Given the description of an element on the screen output the (x, y) to click on. 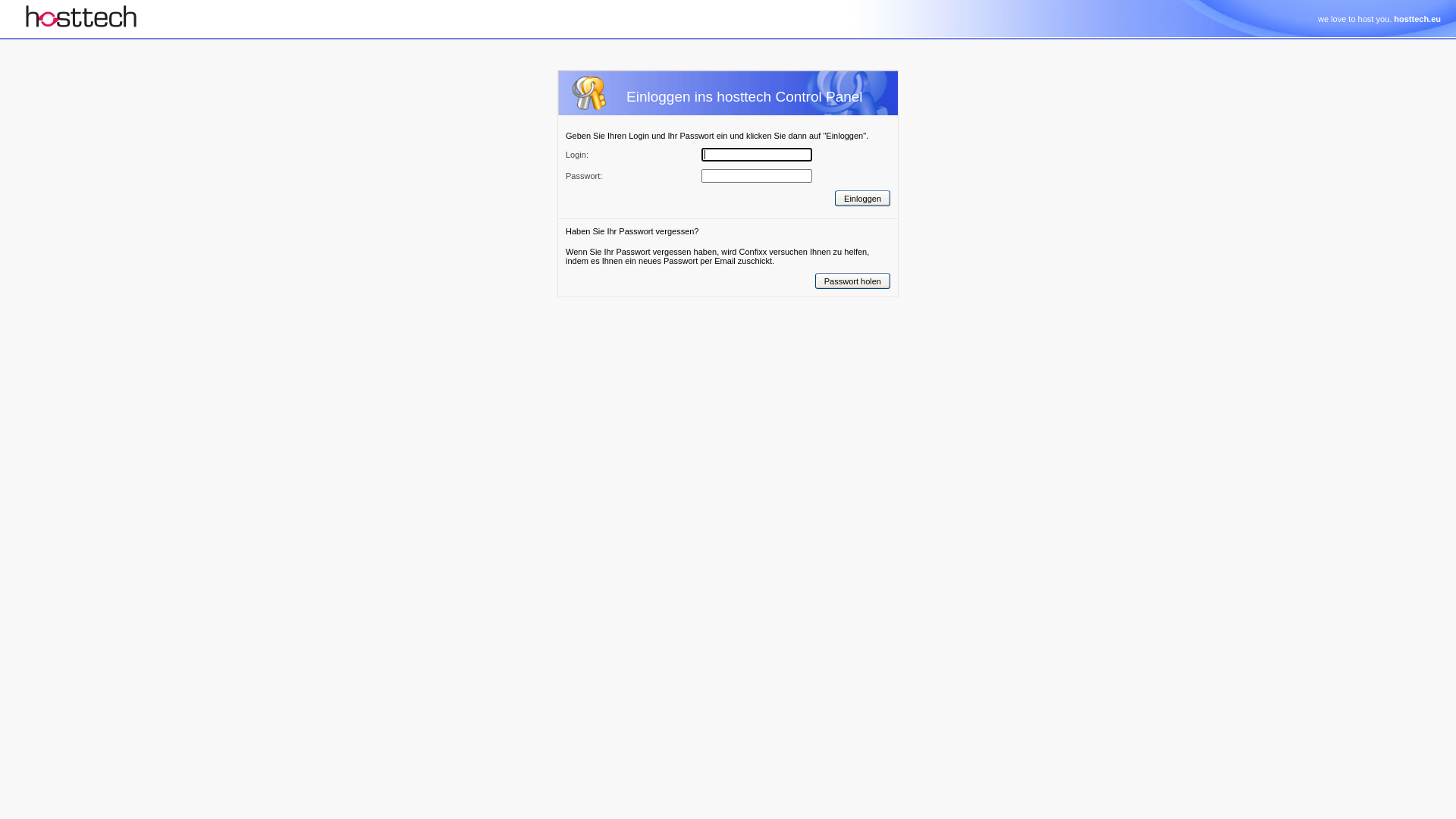
Einloggen Element type: text (862, 198)
Passwort holen Element type: text (852, 280)
we love to host you. hosttech.eu Element type: text (1378, 18)
